Given the description of an element on the screen output the (x, y) to click on. 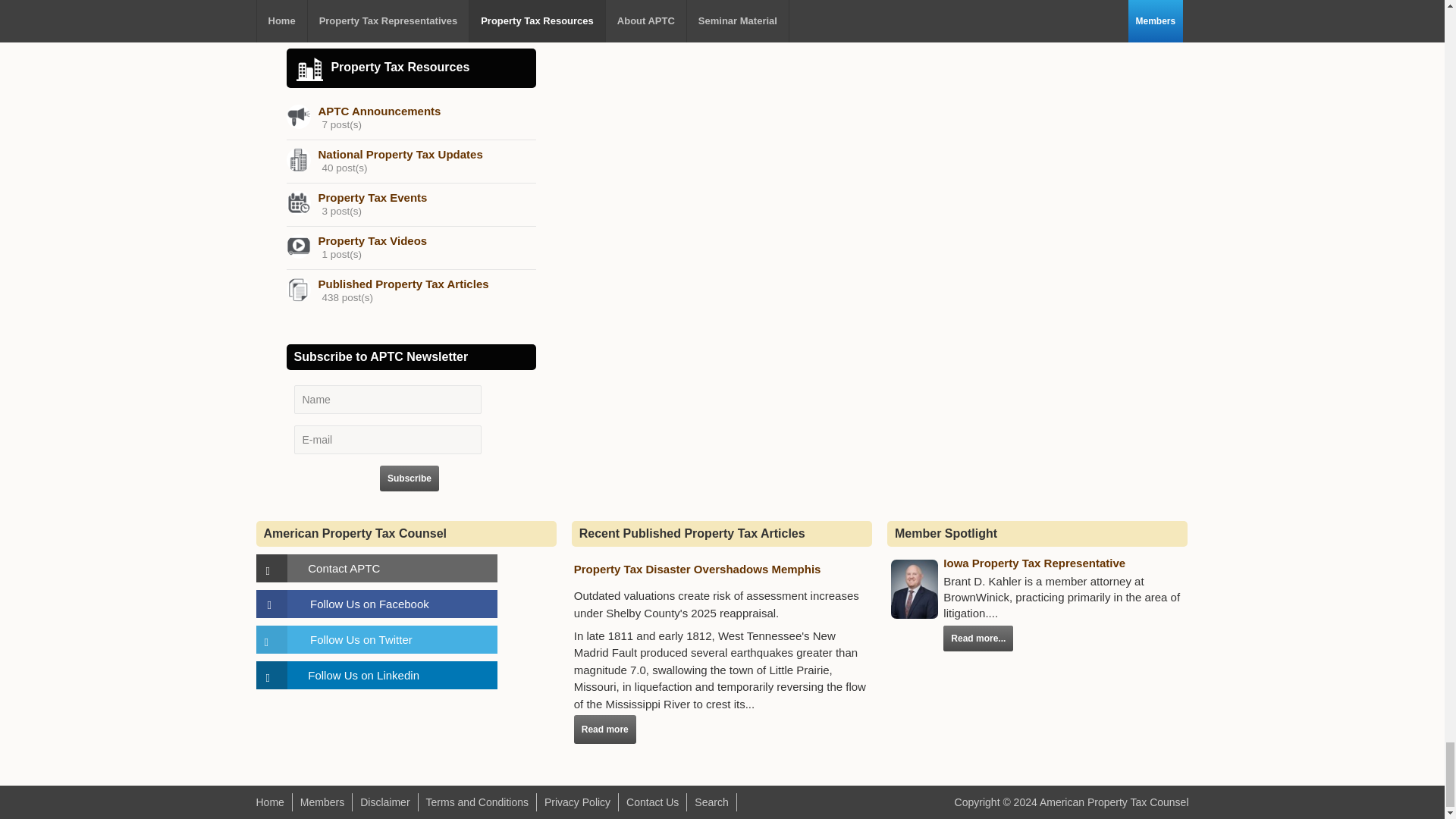
Name (387, 399)
Property Tax Disaster Overshadows Memphis (697, 568)
Subscribe (409, 478)
E-mail (387, 439)
E-mail (387, 439)
Name (387, 399)
